Given the description of an element on the screen output the (x, y) to click on. 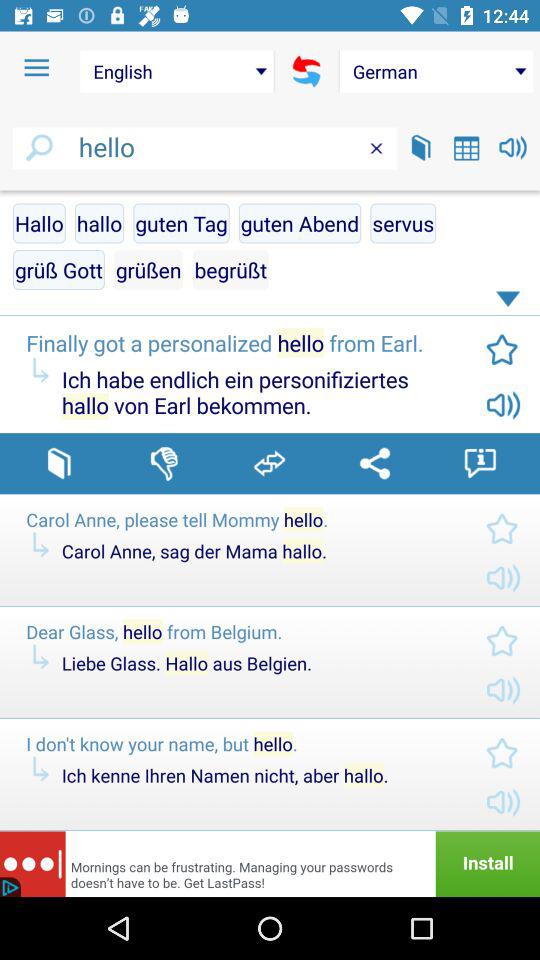
dislike this translation (163, 463)
